Given the description of an element on the screen output the (x, y) to click on. 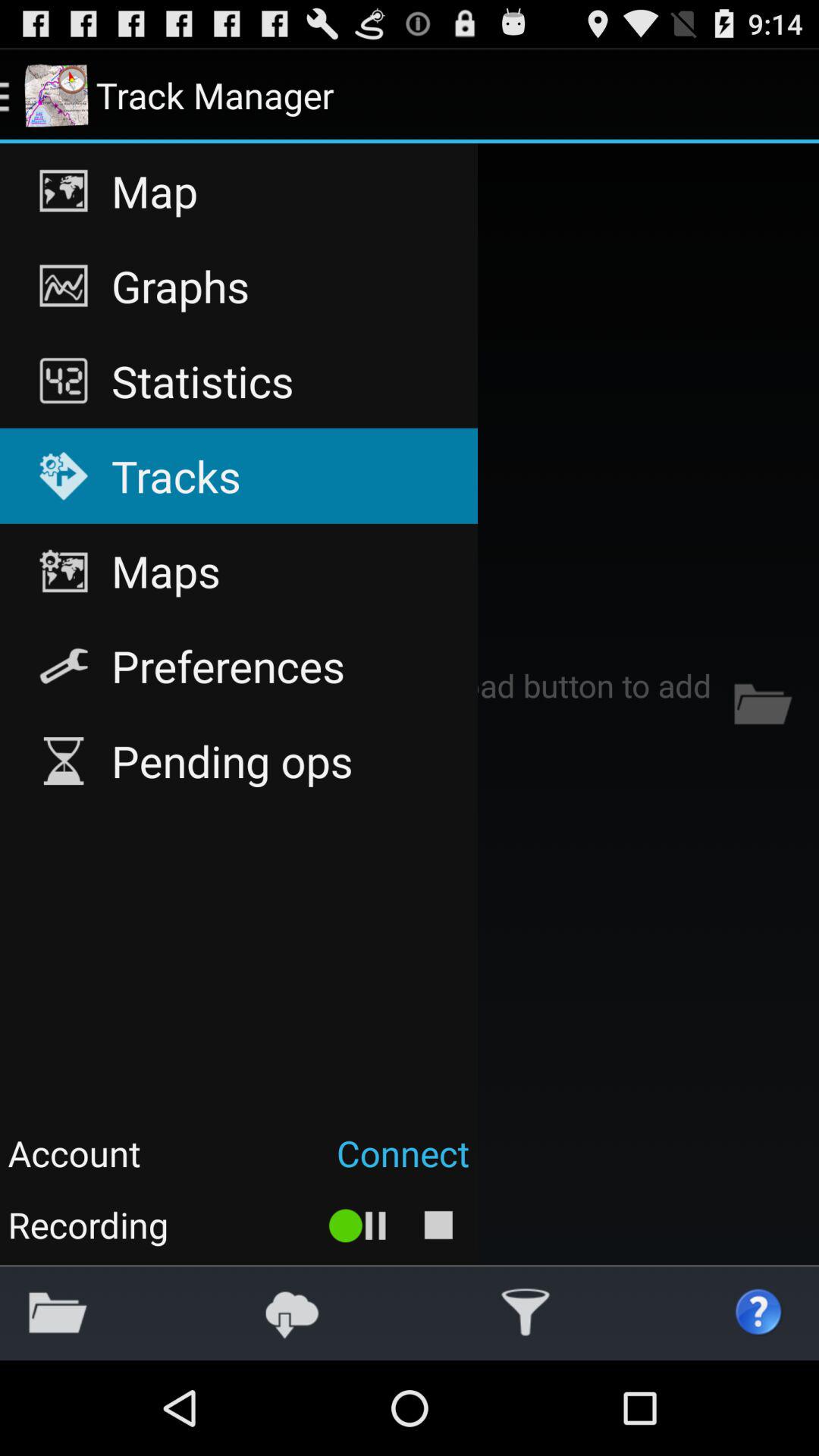
scroll until the pending ops item (238, 760)
